Given the description of an element on the screen output the (x, y) to click on. 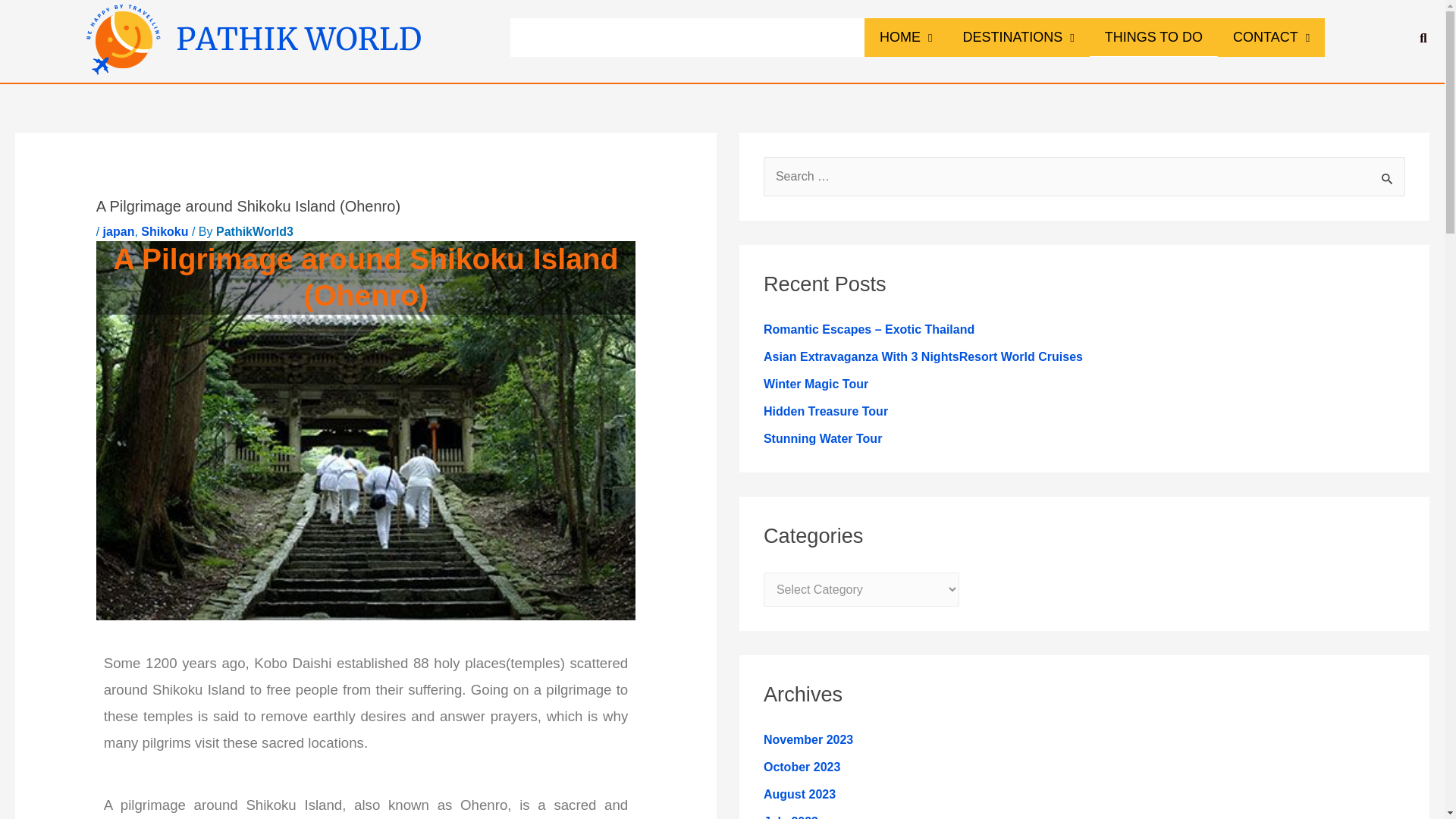
THINGS TO DO (1153, 37)
CONTACT (1270, 37)
November 2023 (807, 739)
PathikWorld3 (254, 231)
japan (119, 231)
July 2023 (790, 816)
HOME (905, 37)
August 2023 (798, 793)
Winter Magic Tour (814, 383)
View all posts by PathikWorld3 (254, 231)
